Given the description of an element on the screen output the (x, y) to click on. 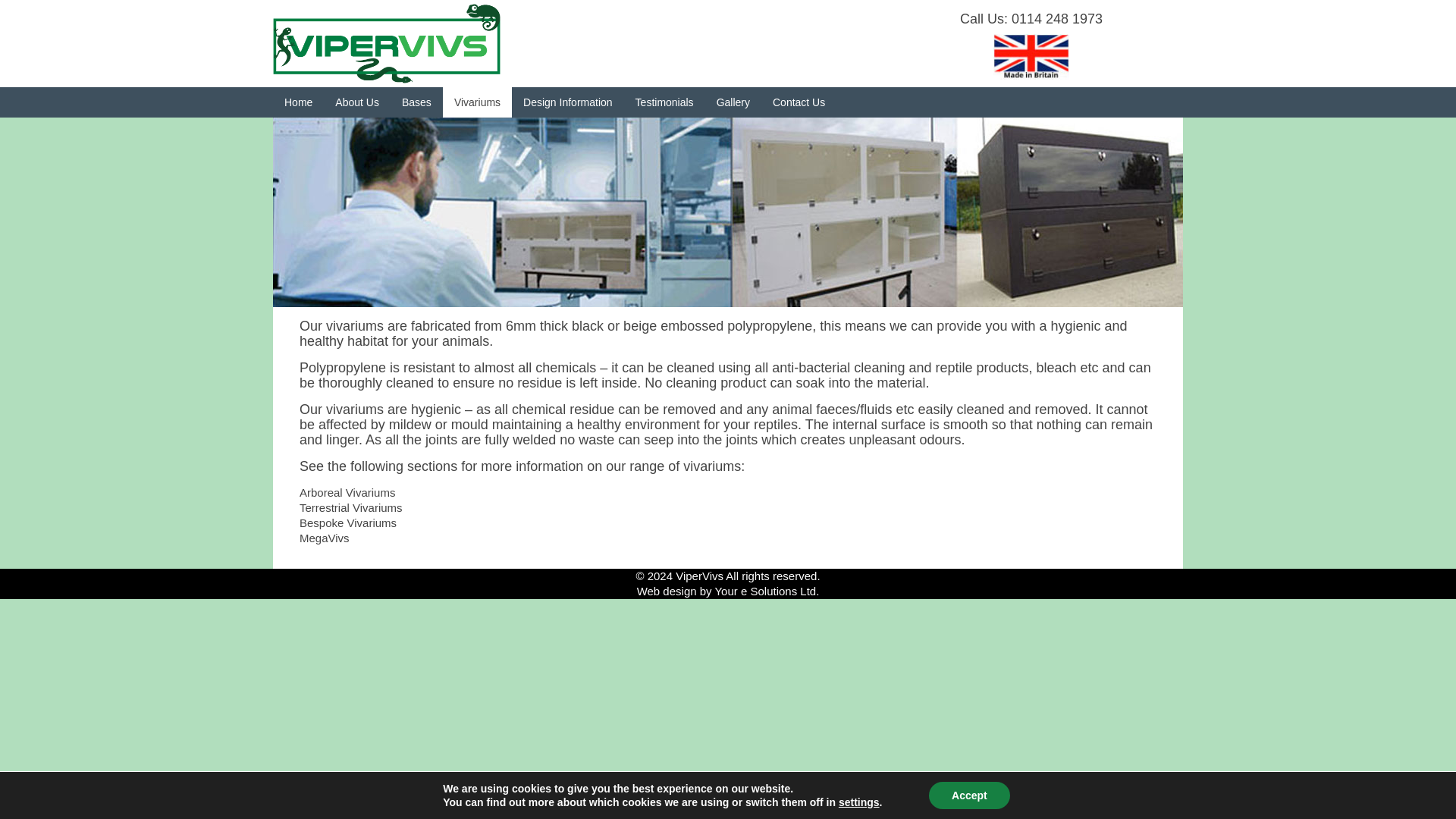
Contact Us (798, 101)
About Us (356, 101)
Design Information (568, 101)
Vivariums (477, 101)
Gallery (732, 101)
Bases (416, 101)
Your e Solutions Ltd. (766, 590)
Home (298, 101)
Testimonials (664, 101)
Vipervivs (386, 43)
